Given the description of an element on the screen output the (x, y) to click on. 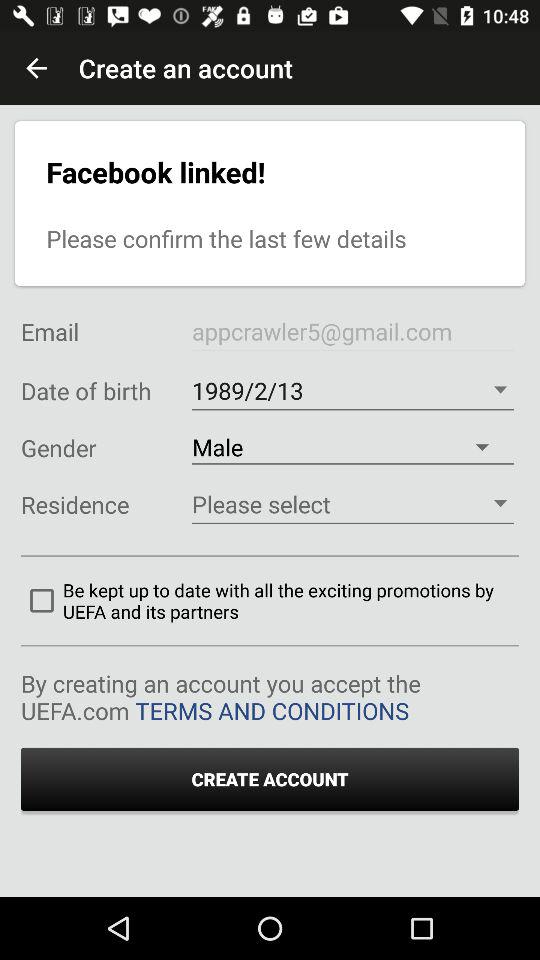
please select (352, 504)
